Given the description of an element on the screen output the (x, y) to click on. 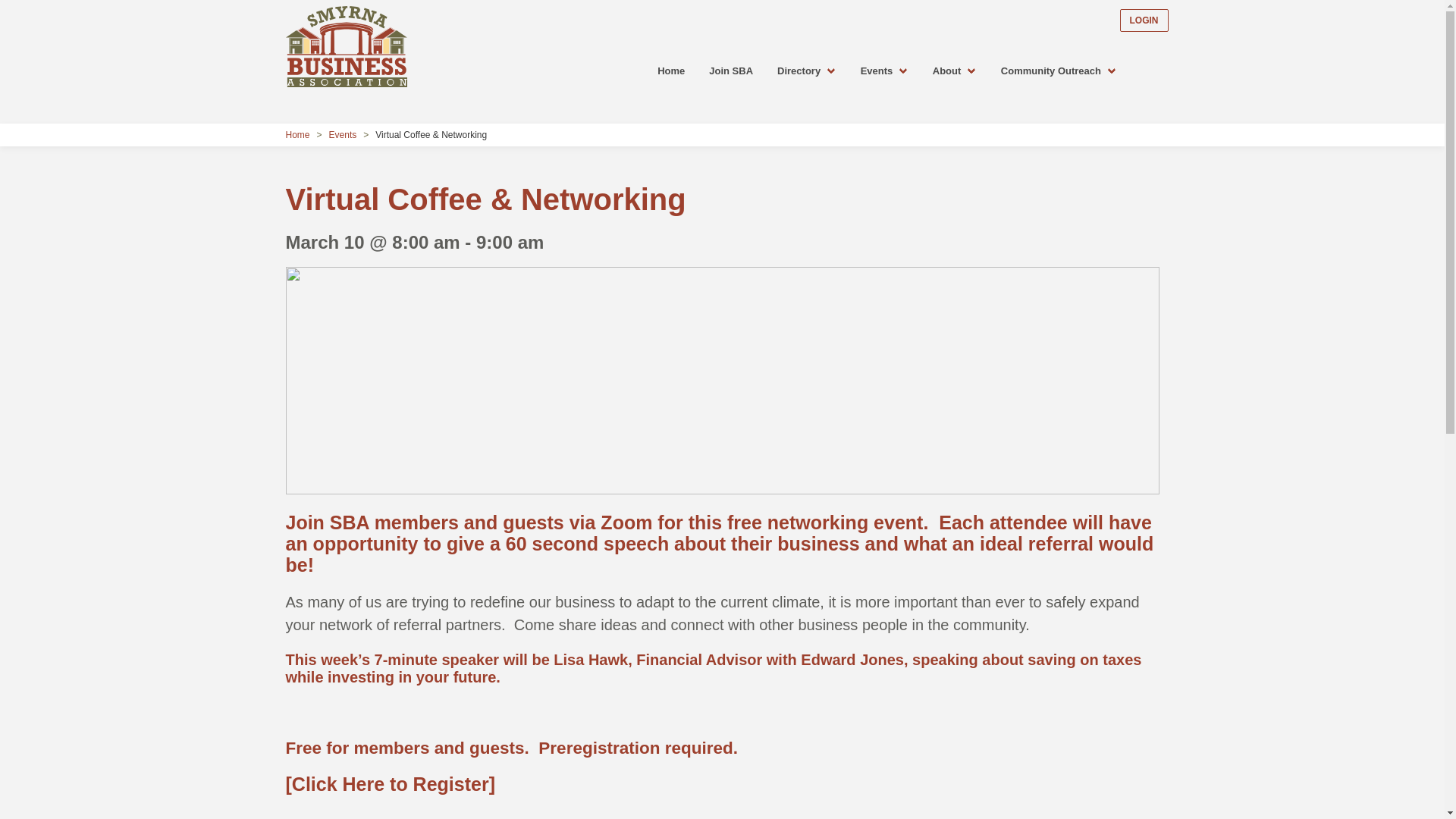
Home (671, 70)
LOGIN (1143, 20)
Home (300, 134)
Events (884, 71)
Home (300, 134)
Community Outreach (1058, 71)
Directory (806, 71)
Join SBA (730, 70)
Events (342, 134)
Financial Advisor with Edward Jones (770, 659)
